Given the description of an element on the screen output the (x, y) to click on. 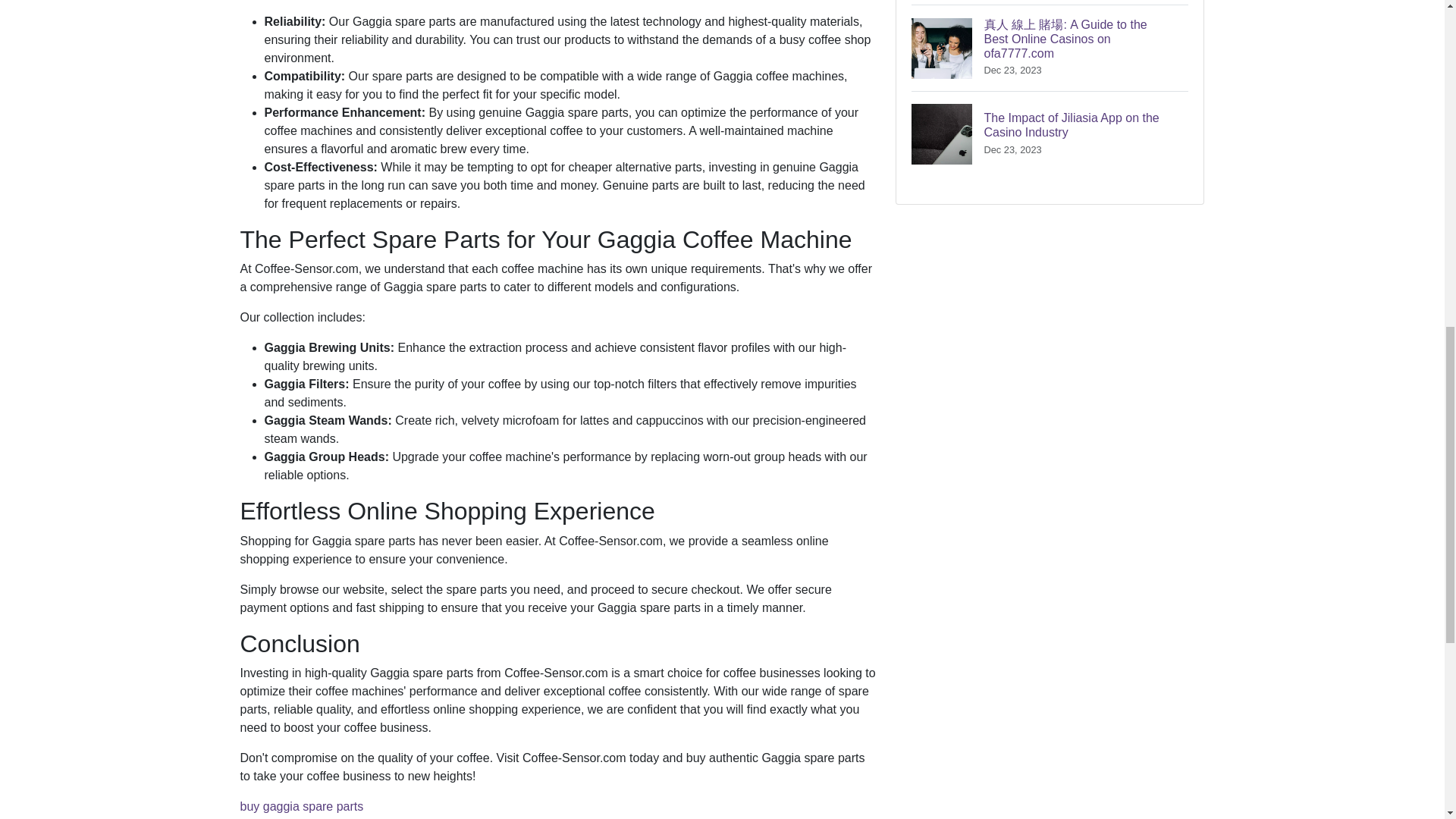
buy gaggia spare parts (301, 806)
